Given the description of an element on the screen output the (x, y) to click on. 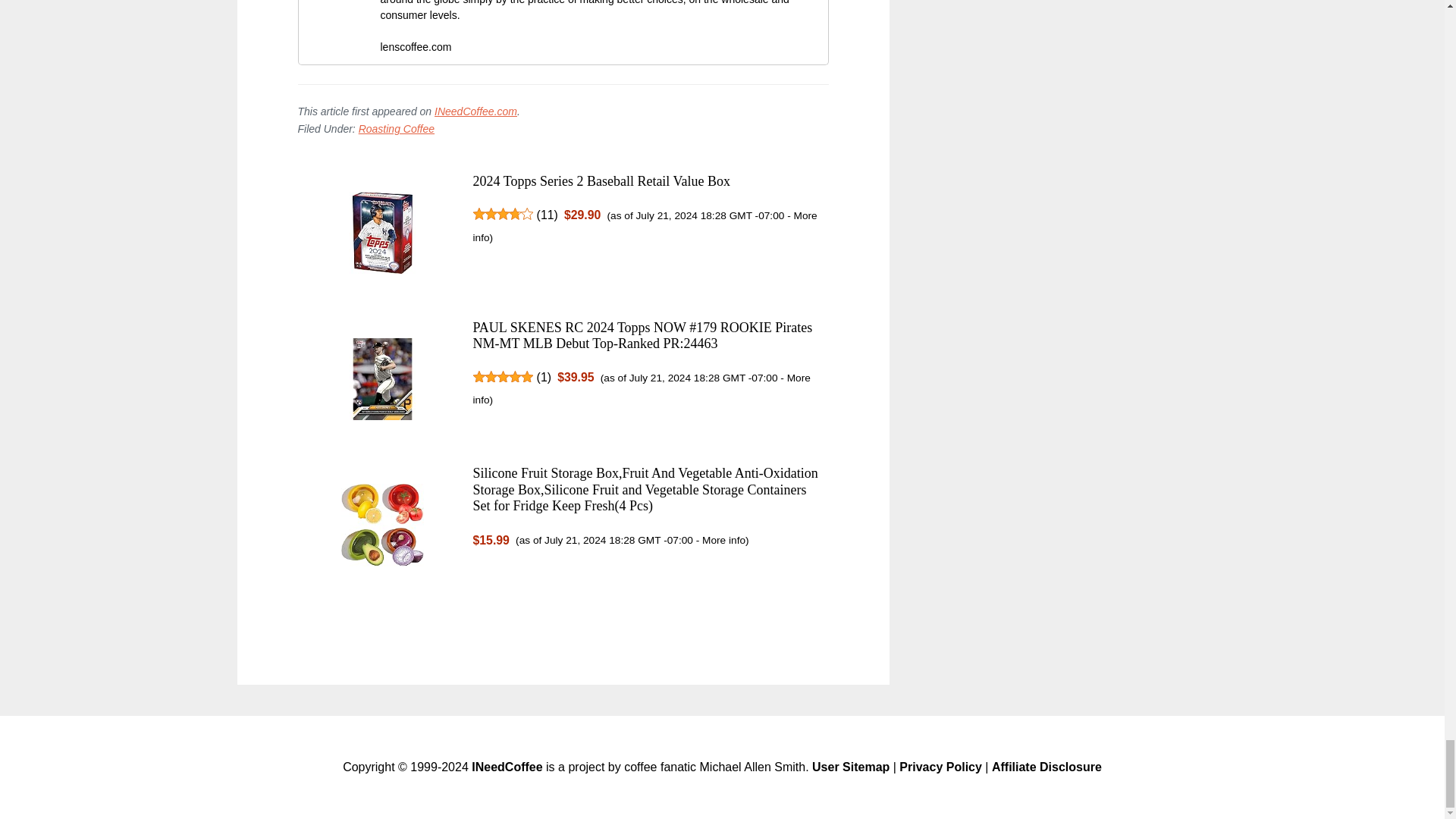
Roasting Coffee (395, 128)
11 (547, 214)
INeedCoffee.com (474, 111)
More info (644, 226)
More info (641, 388)
2024 Topps Series 2 Baseball Retail Value Box (601, 181)
2024 Topps Series 2 Baseball Retail Value Box:  (382, 236)
2024 Topps Series 2 Baseball Retail Value Box:  (601, 181)
More info (723, 540)
